Given the description of an element on the screen output the (x, y) to click on. 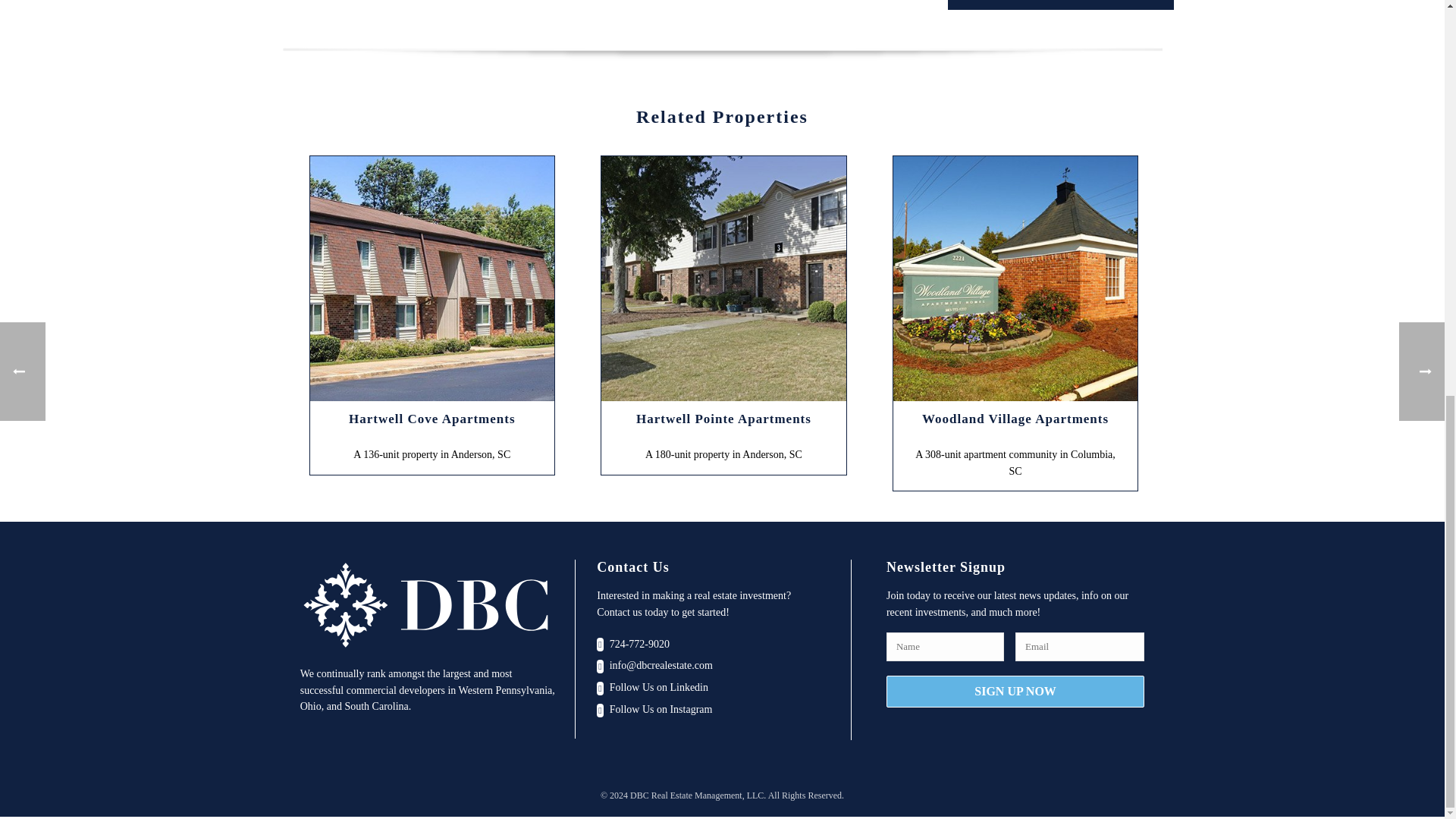
Sign up Now (1015, 690)
Woodland Village Apartments (1015, 278)
Hartwell Cove Apartments (431, 278)
Hartwell Pointe Apartments (723, 278)
